Given the description of an element on the screen output the (x, y) to click on. 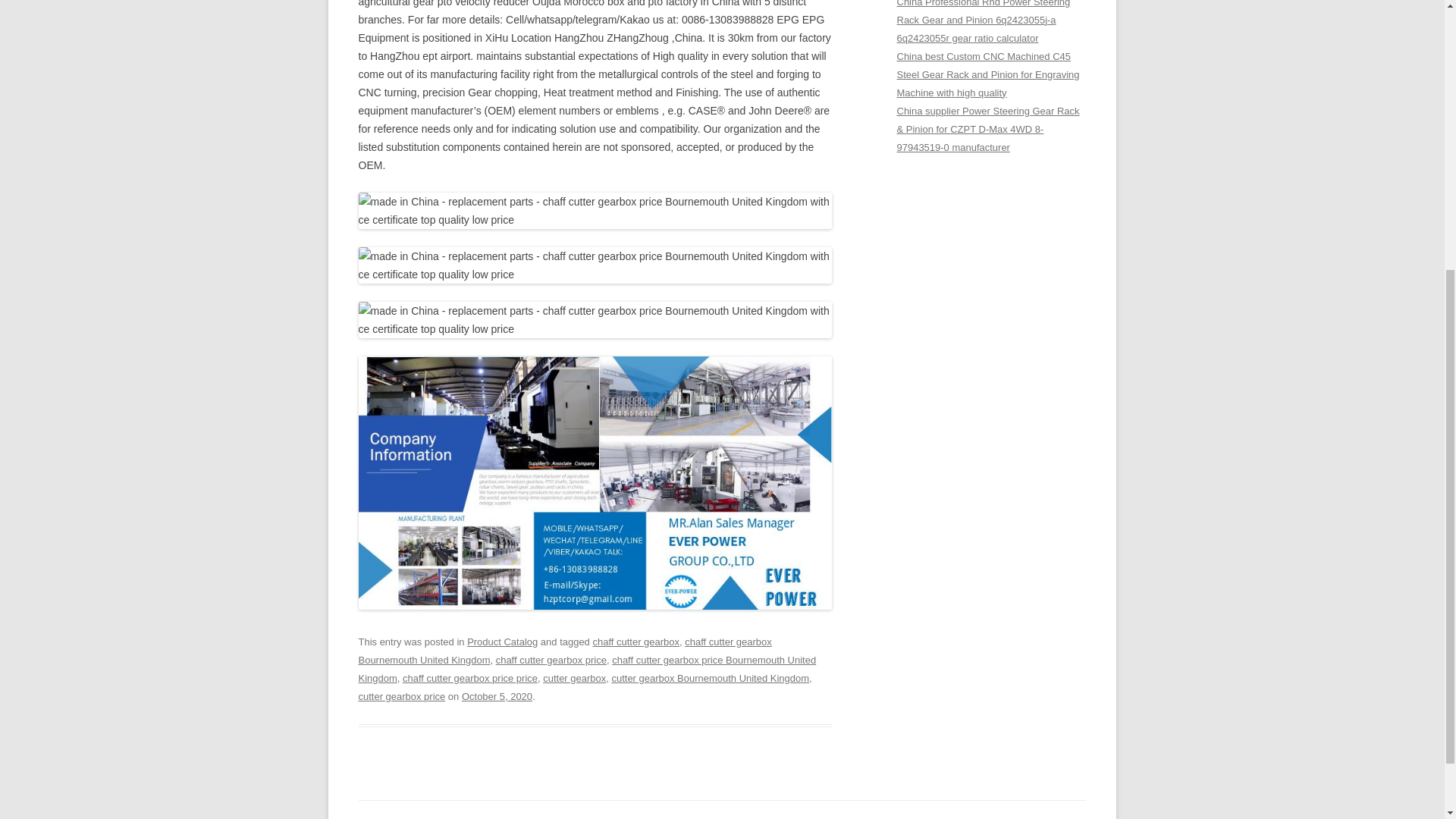
Product Catalog (502, 641)
cutter gearbox Bournemouth United Kingdom (710, 677)
chaff cutter gearbox (635, 641)
cutter gearbox price (401, 696)
10:55 pm (496, 696)
chaff cutter gearbox price Bournemouth United Kingdom (586, 668)
chaff cutter gearbox price price (470, 677)
chaff cutter gearbox Bournemouth United Kingdom (564, 650)
chaff cutter gearbox price (551, 659)
